Given the description of an element on the screen output the (x, y) to click on. 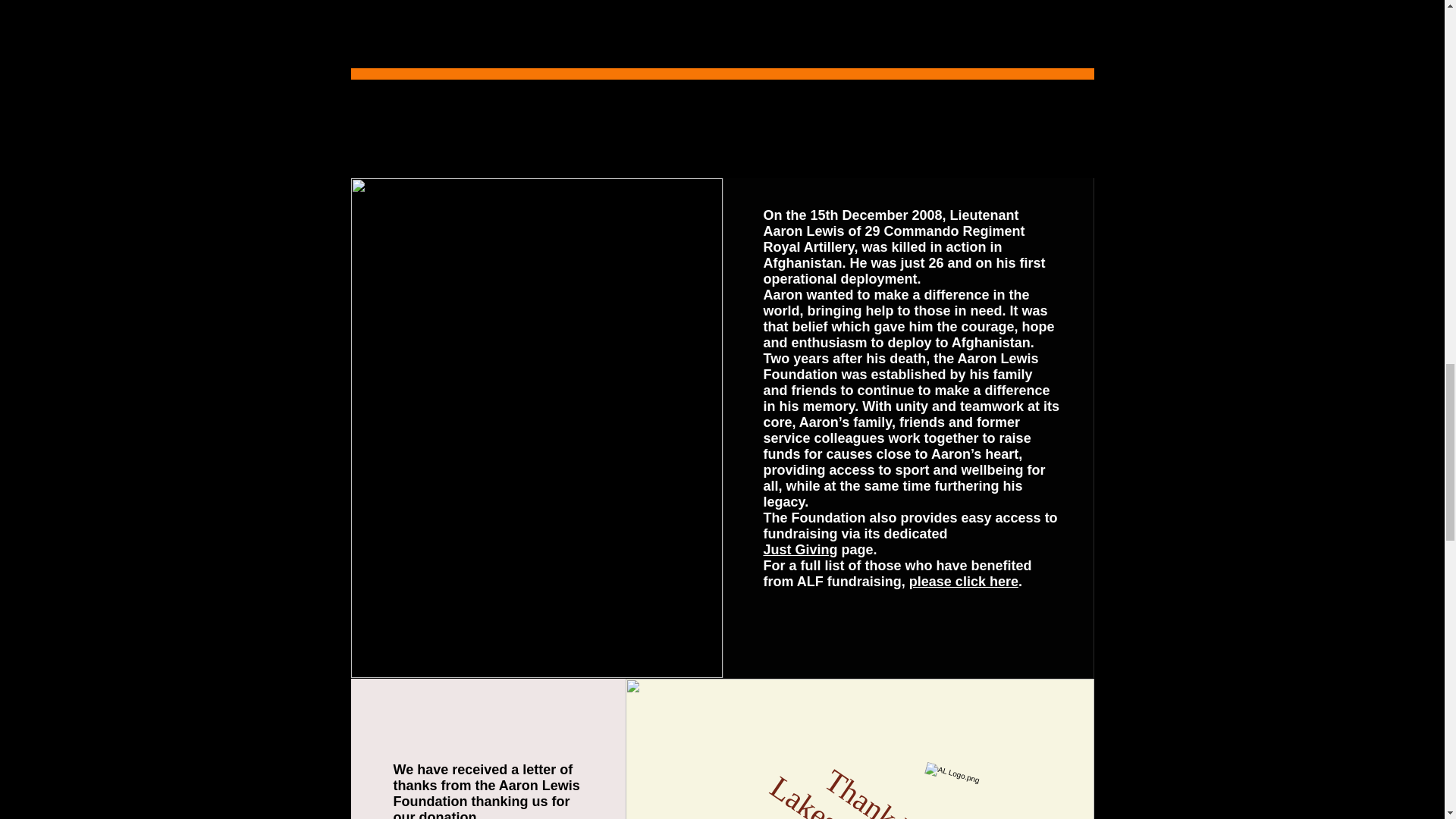
Just Giving (799, 549)
please click here (962, 581)
Aaron Lewis .pdf (513, 818)
